Given the description of an element on the screen output the (x, y) to click on. 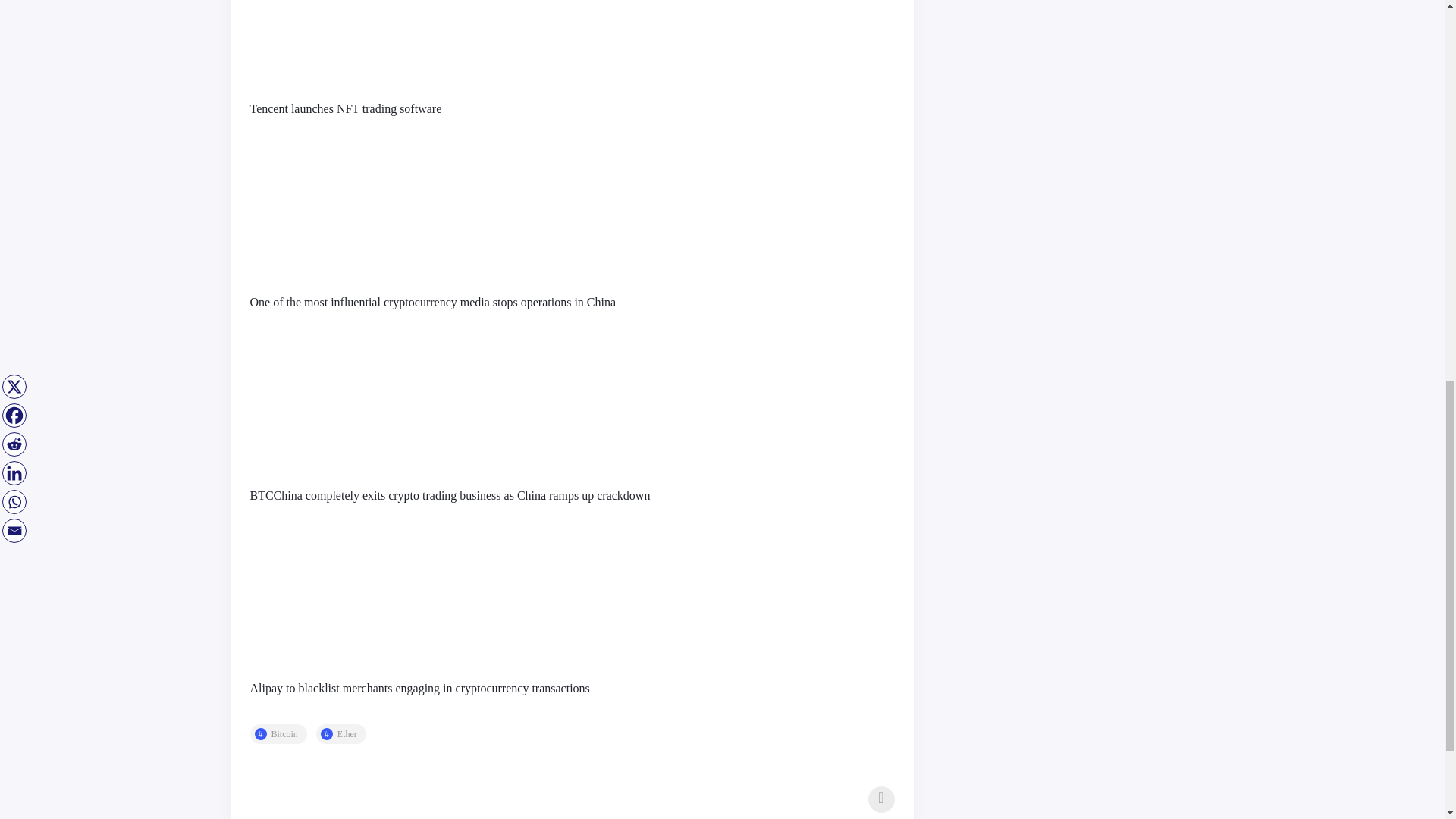
Ether (340, 733)
Bitcoin (278, 733)
Tencent launches NFT trading software (346, 108)
